Given the description of an element on the screen output the (x, y) to click on. 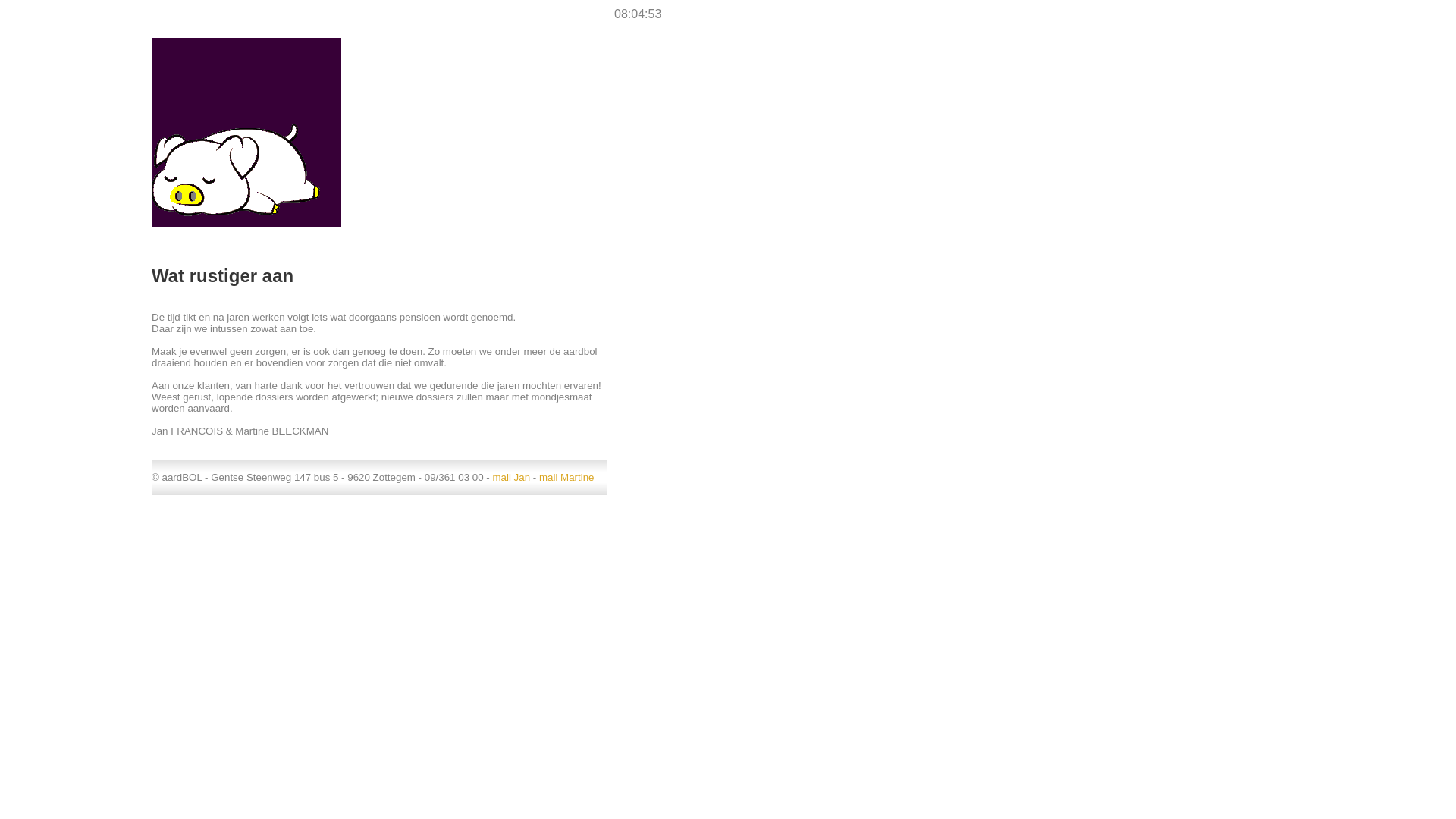
mail Jan Element type: text (511, 477)
mail Martine Element type: text (566, 477)
